Given the description of an element on the screen output the (x, y) to click on. 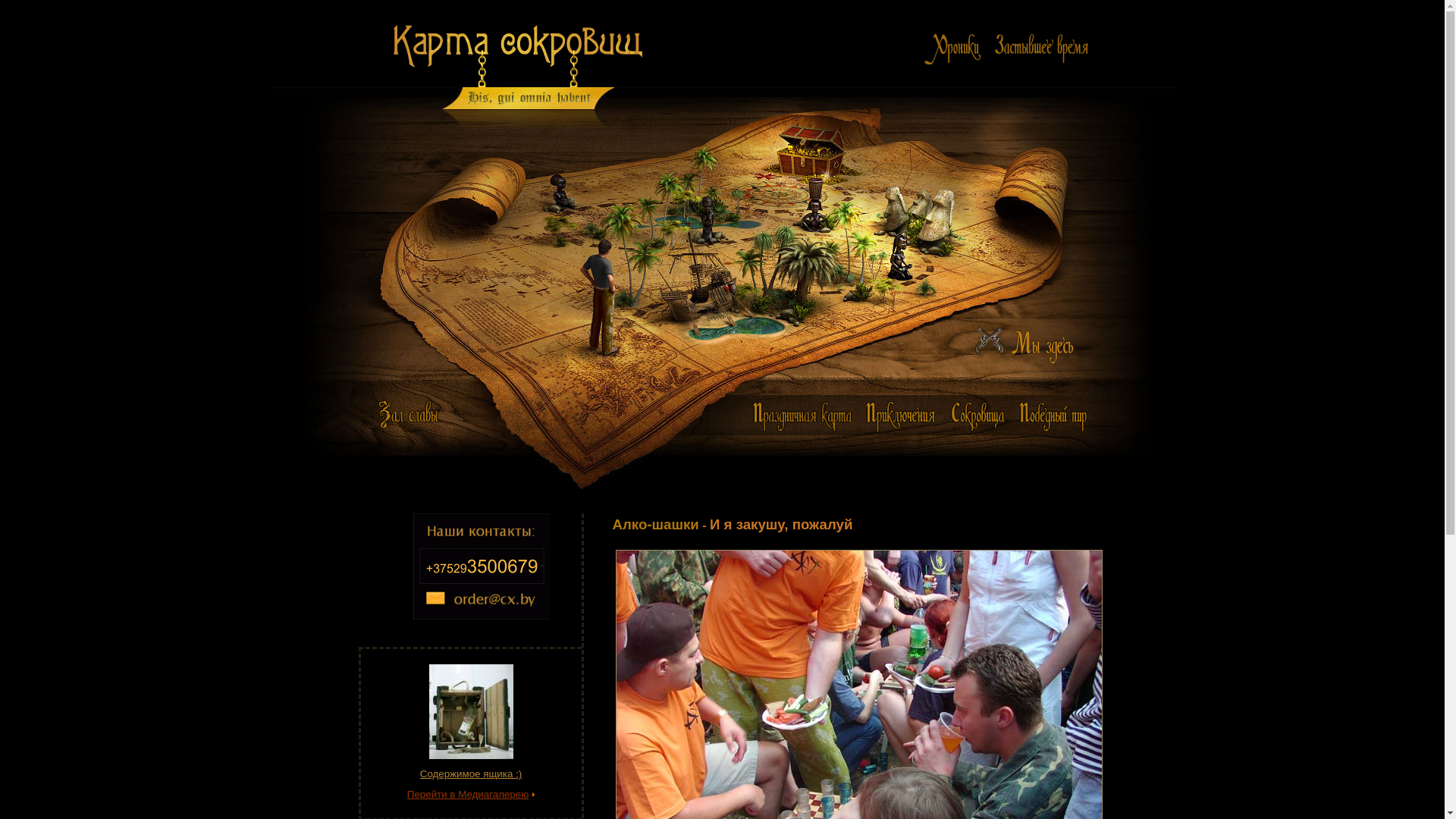
  Element type: text (1040, 48)
  Element type: text (1052, 416)
  Element type: text (951, 48)
  Element type: text (1032, 344)
  Element type: text (900, 416)
  Element type: text (977, 416)
  Element type: text (802, 416)
